Given the description of an element on the screen output the (x, y) to click on. 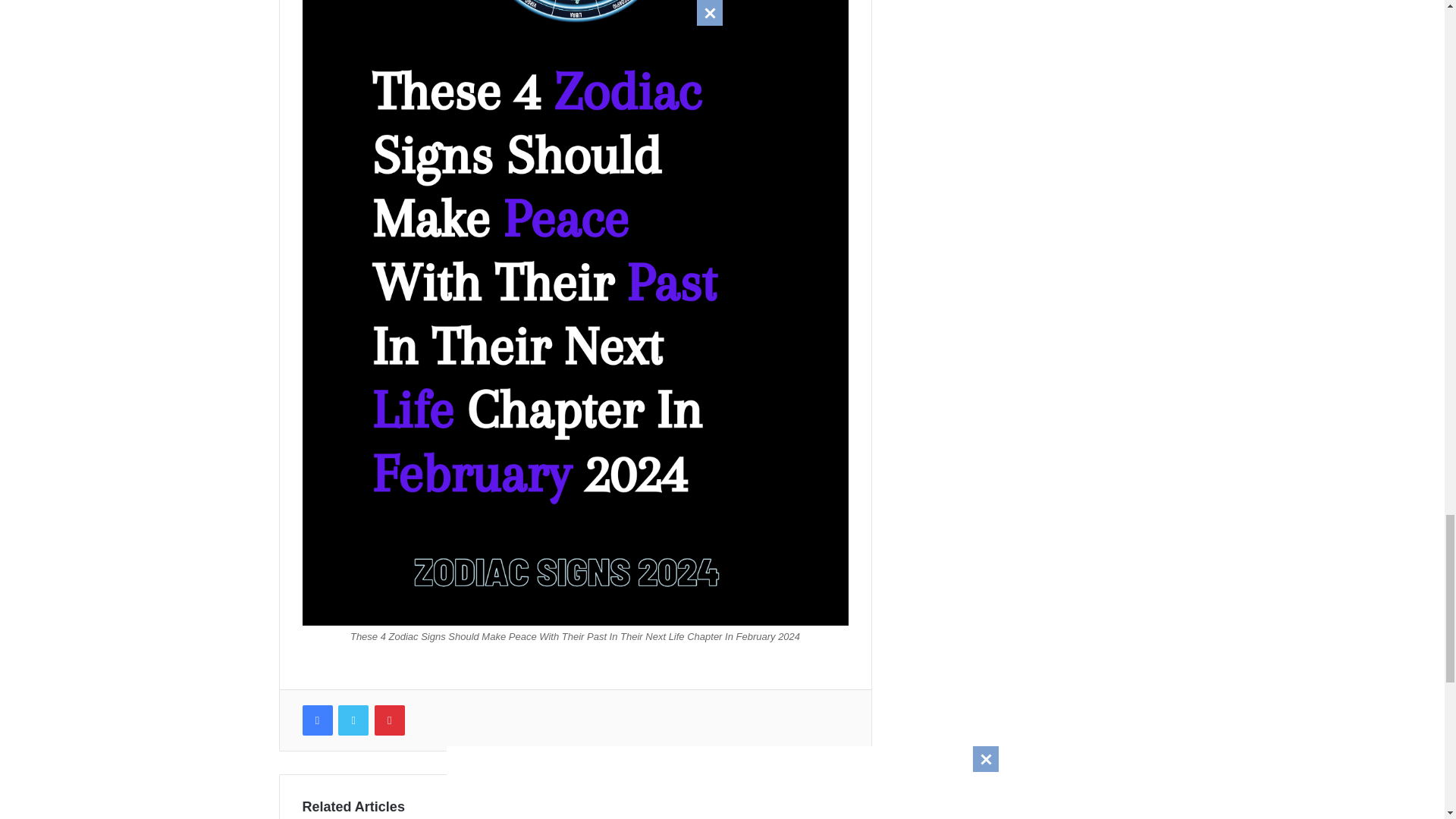
Pinterest (389, 720)
Twitter (352, 720)
Facebook (316, 720)
Twitter (352, 720)
Facebook (316, 720)
